Given the description of an element on the screen output the (x, y) to click on. 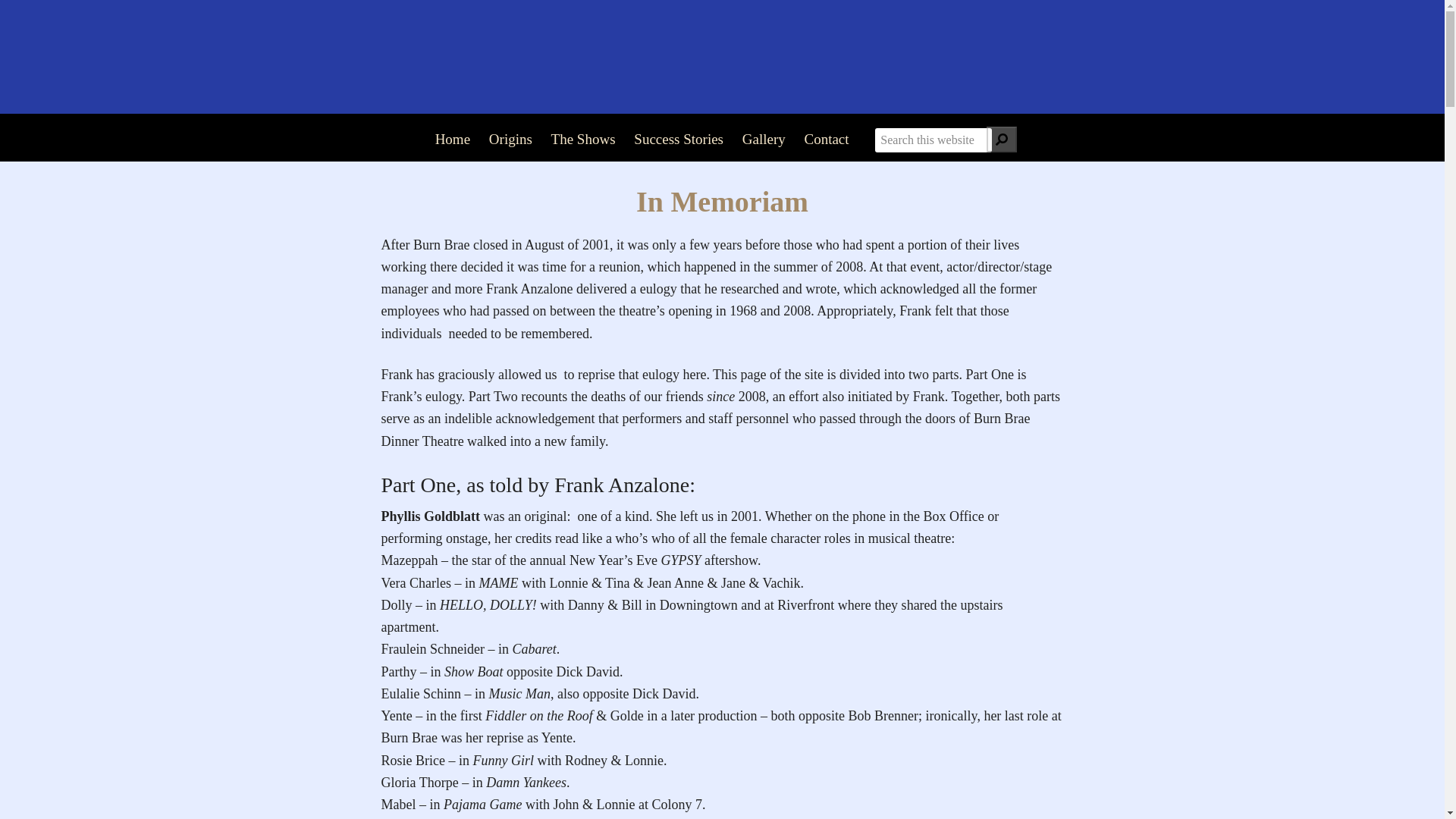
Search (1001, 139)
Contact (826, 138)
Home (452, 138)
Success Stories (678, 138)
Burn Brae Legacy (721, 55)
Gallery (764, 138)
The Shows (583, 138)
Origins (510, 138)
